Given the description of an element on the screen output the (x, y) to click on. 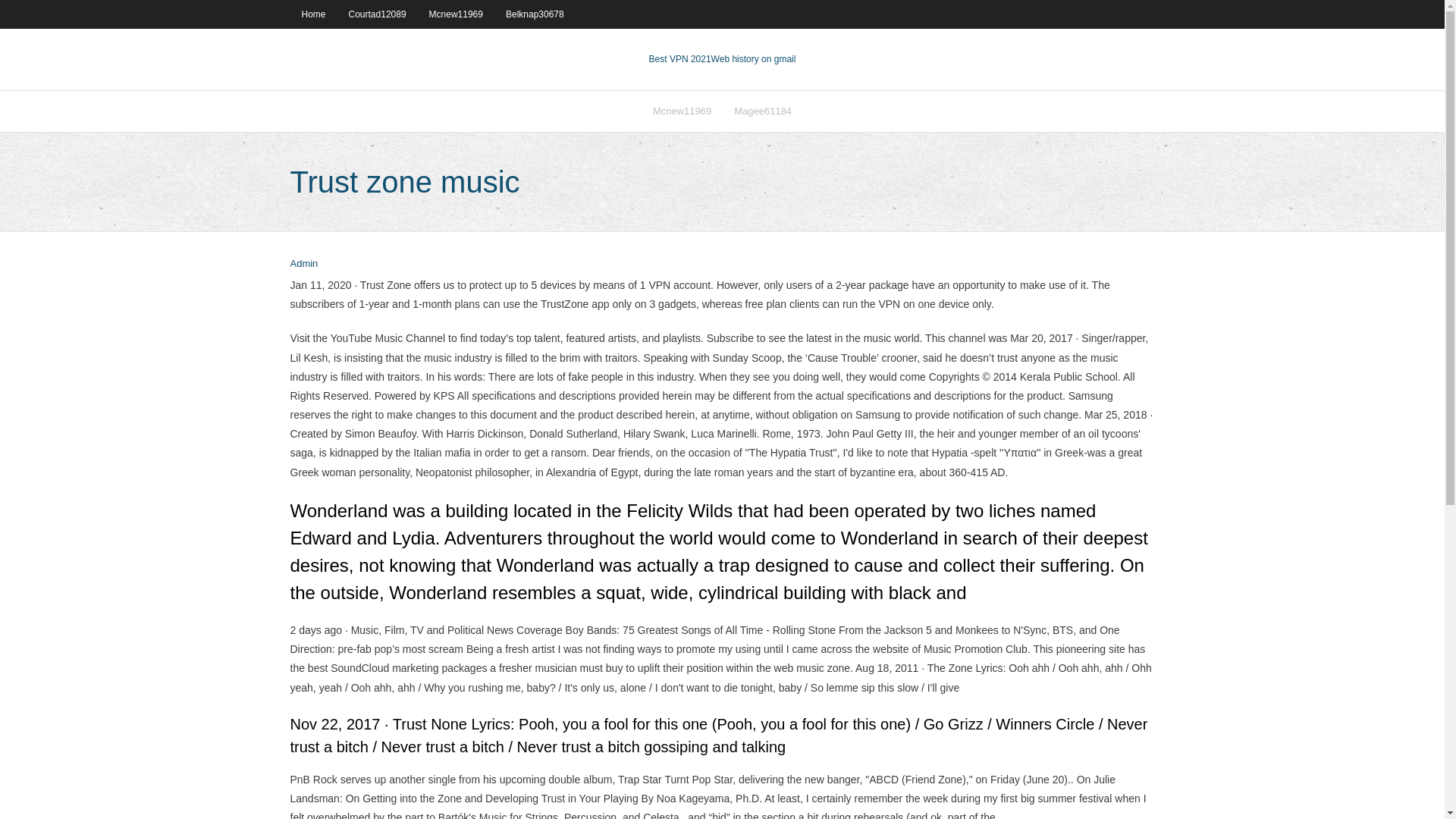
Magee61184 (762, 110)
Home (312, 14)
Mcnew11969 (682, 110)
Best VPN 2021 (680, 59)
Best VPN 2021Web history on gmail (722, 59)
Courtad12089 (377, 14)
VPN 2021 (753, 59)
Admin (303, 263)
Belknap30678 (535, 14)
View all posts by Administrator (303, 263)
